Given the description of an element on the screen output the (x, y) to click on. 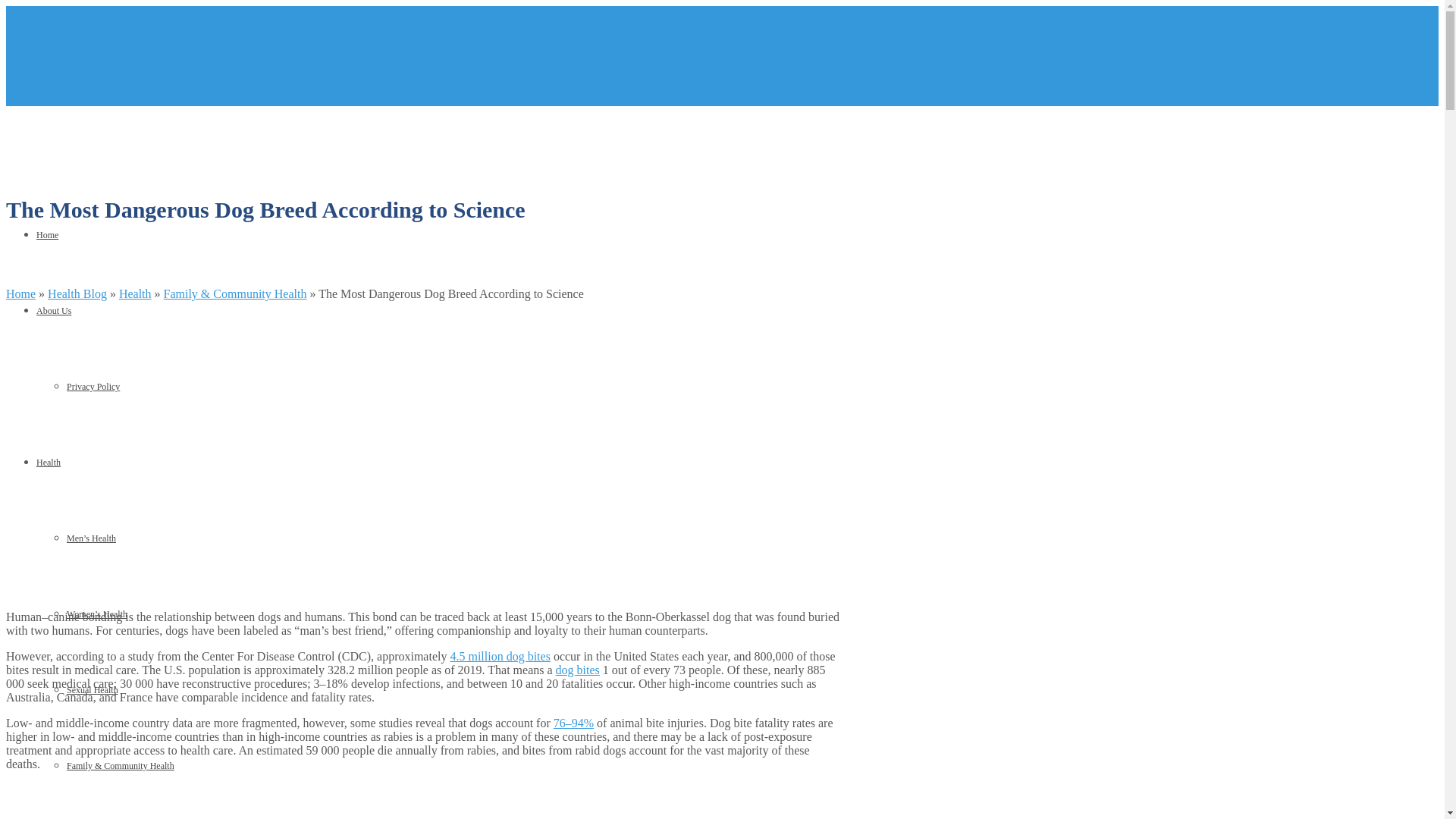
Home (47, 235)
Health (48, 462)
Health Blog (77, 293)
Privacy Policy (92, 386)
Sexual Health (91, 689)
Home (19, 293)
About Us (53, 310)
dog bites (577, 669)
Health (135, 293)
Health (135, 293)
4.5 million dog bites (499, 656)
